Given the description of an element on the screen output the (x, y) to click on. 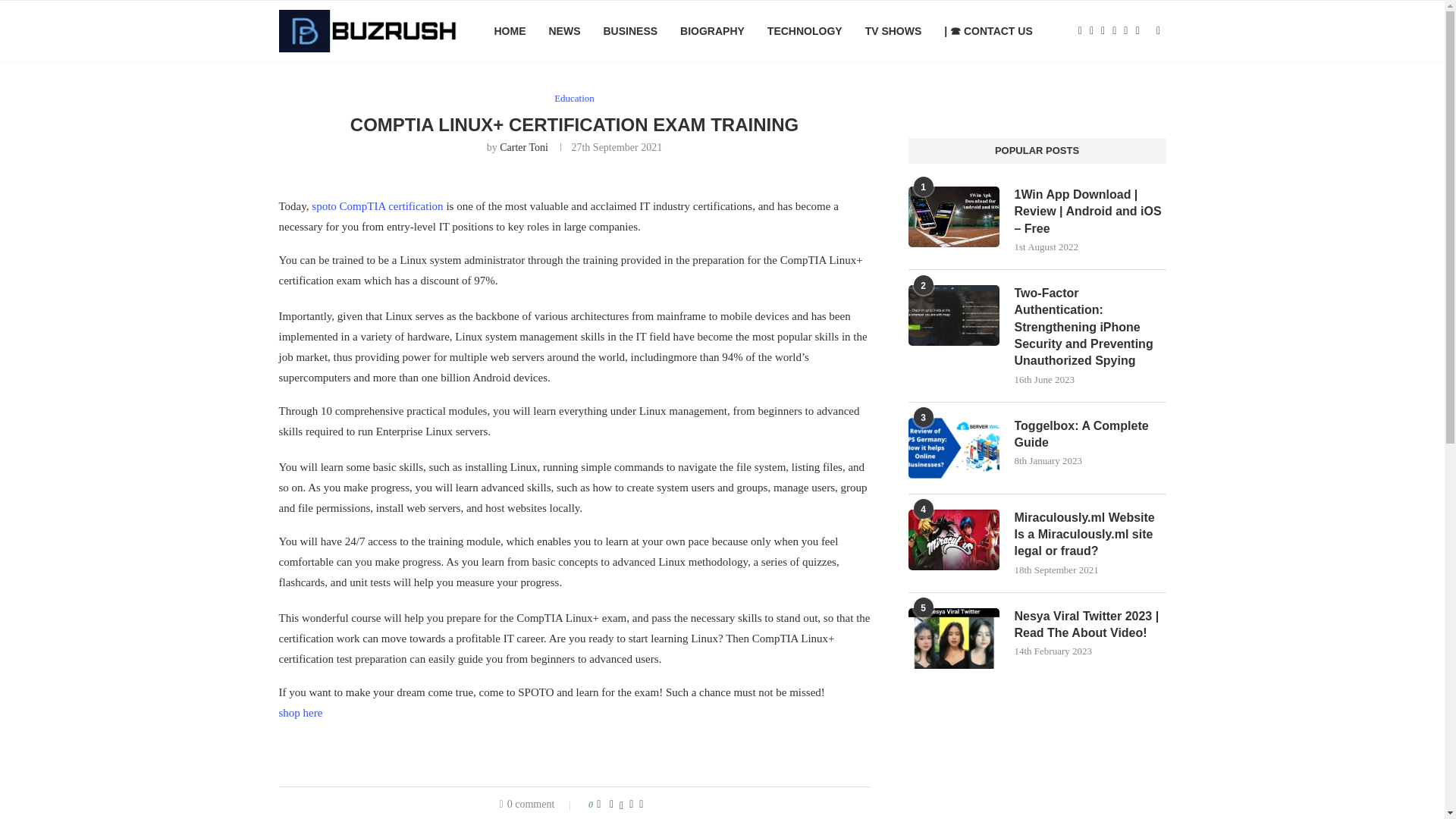
BUSINESS (630, 30)
TECHNOLOGY (805, 30)
Carter Toni (523, 147)
TV SHOWS (892, 30)
spoto CompTIA certification (376, 205)
shop here (301, 712)
Education (574, 98)
BIOGRAPHY (711, 30)
